Given the description of an element on the screen output the (x, y) to click on. 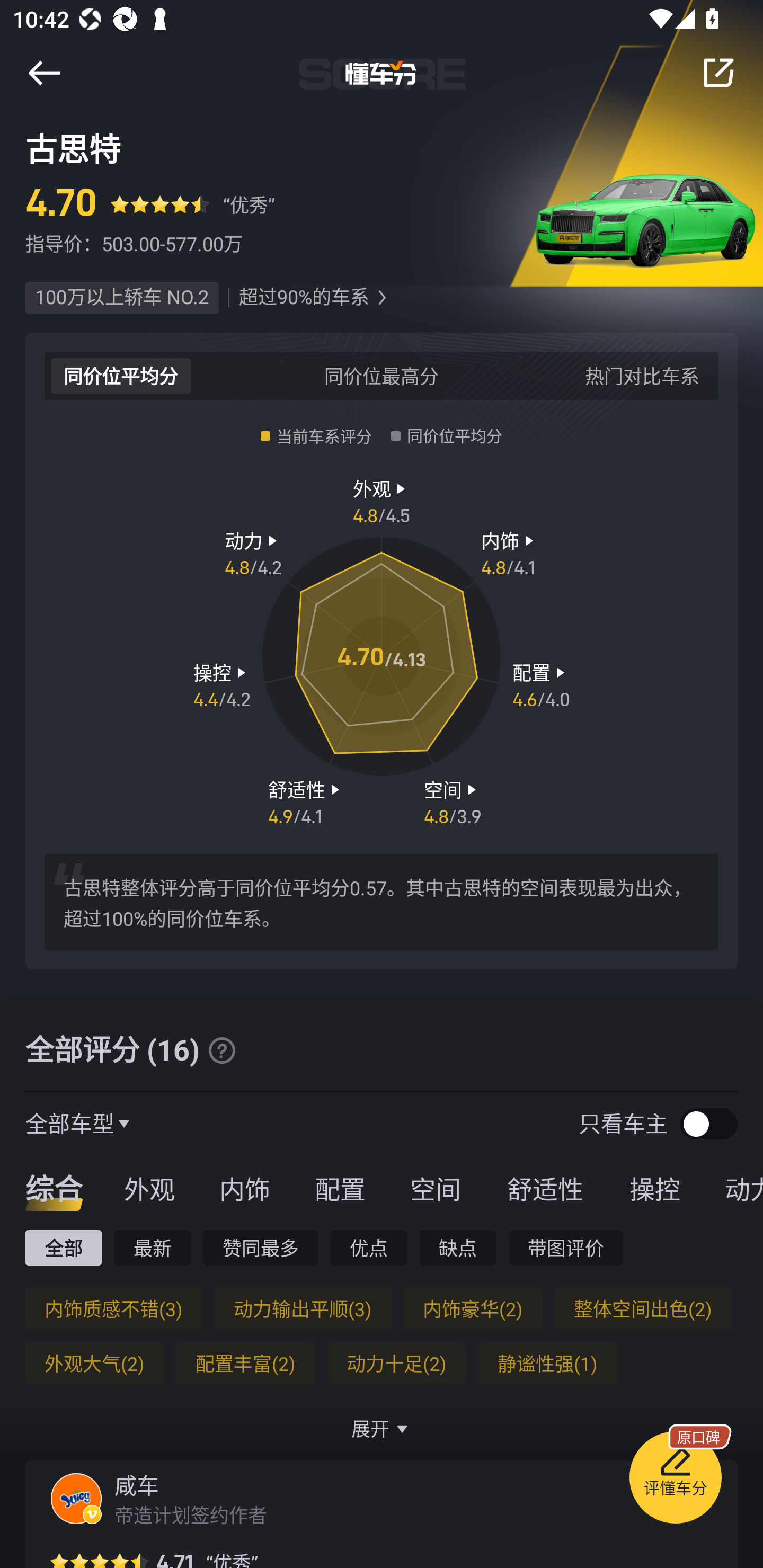
 (44, 72)
 (718, 72)
超过90%的车系 (303, 297)
 (381, 297)
同价位平均分 (120, 375)
同价位最高分 (381, 375)
热门对比车系 (641, 375)
外观  4.8 / 4.5 (381, 500)
动力  4.8 / 4.2 (252, 552)
内饰  4.8 / 4.1 (509, 552)
操控  4.4 / 4.2 (221, 685)
配置  4.6 / 4.0 (540, 685)
舒适性  4.9 / 4.1 (305, 801)
空间  4.8 / 3.9 (452, 801)
 (222, 1050)
全部车型 (69, 1123)
外观 (148, 1188)
内饰 (244, 1188)
配置 (339, 1188)
空间 (434, 1188)
舒适性 (544, 1188)
操控 (654, 1188)
全部 (63, 1247)
最新 (152, 1247)
赞同最多 (260, 1247)
优点 (368, 1247)
缺点 (457, 1247)
带图评价 (565, 1247)
内饰质感不错(3) (113, 1308)
动力输出平顺(3) (302, 1308)
内饰豪华(2) (472, 1308)
整体空间出色(2) (642, 1308)
外观大气(2) (94, 1363)
配置丰富(2) (245, 1363)
动力十足(2) (396, 1363)
静谧性强(1) (547, 1363)
展开  (381, 1428)
 评懂车分 原口碑 (675, 1480)
咸车 (136, 1485)
帝造计划签约作者  (192, 1514)
